Given the description of an element on the screen output the (x, y) to click on. 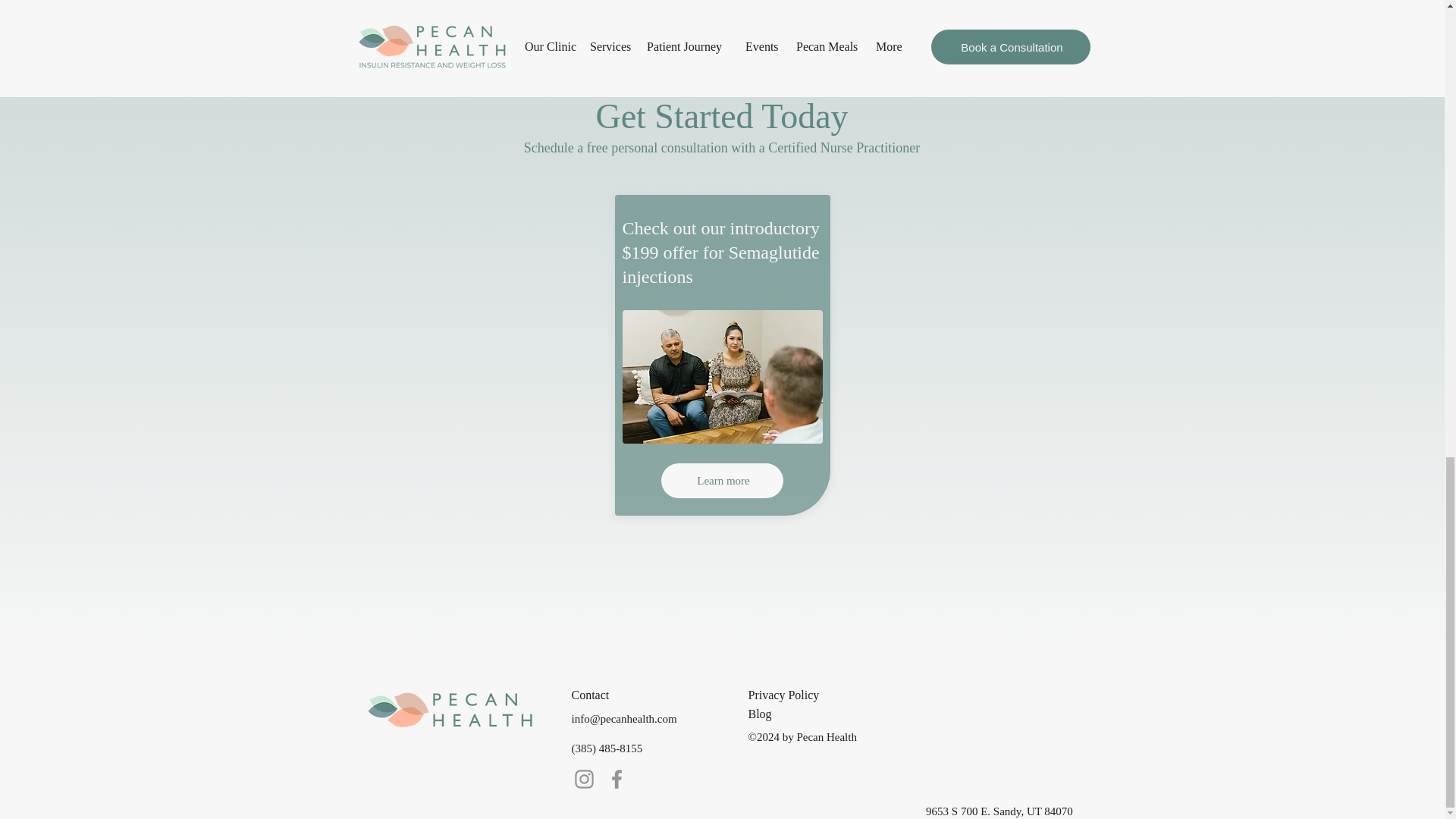
Privacy Policy (802, 695)
Blog (802, 714)
Contact (625, 695)
Learn more (722, 480)
